Given the description of an element on the screen output the (x, y) to click on. 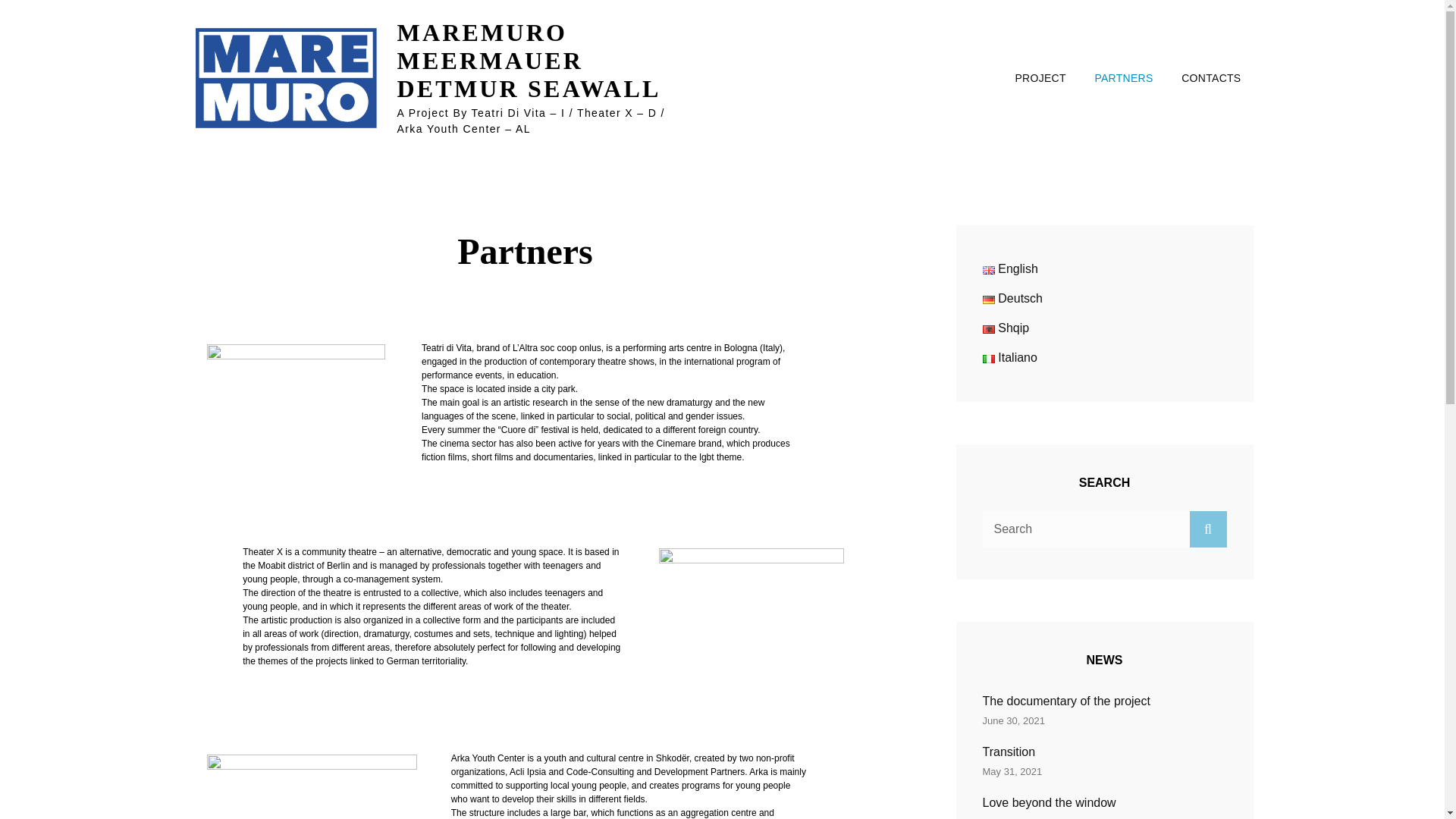
CONTACTS (1210, 77)
The documentary of the project (1066, 700)
Shqip (988, 329)
Italiano (988, 358)
Transition (1008, 751)
Deutsch (988, 299)
Deutsch (1012, 297)
English (988, 270)
PROJECT (1040, 77)
Love beyond the window (1049, 802)
